Given the description of an element on the screen output the (x, y) to click on. 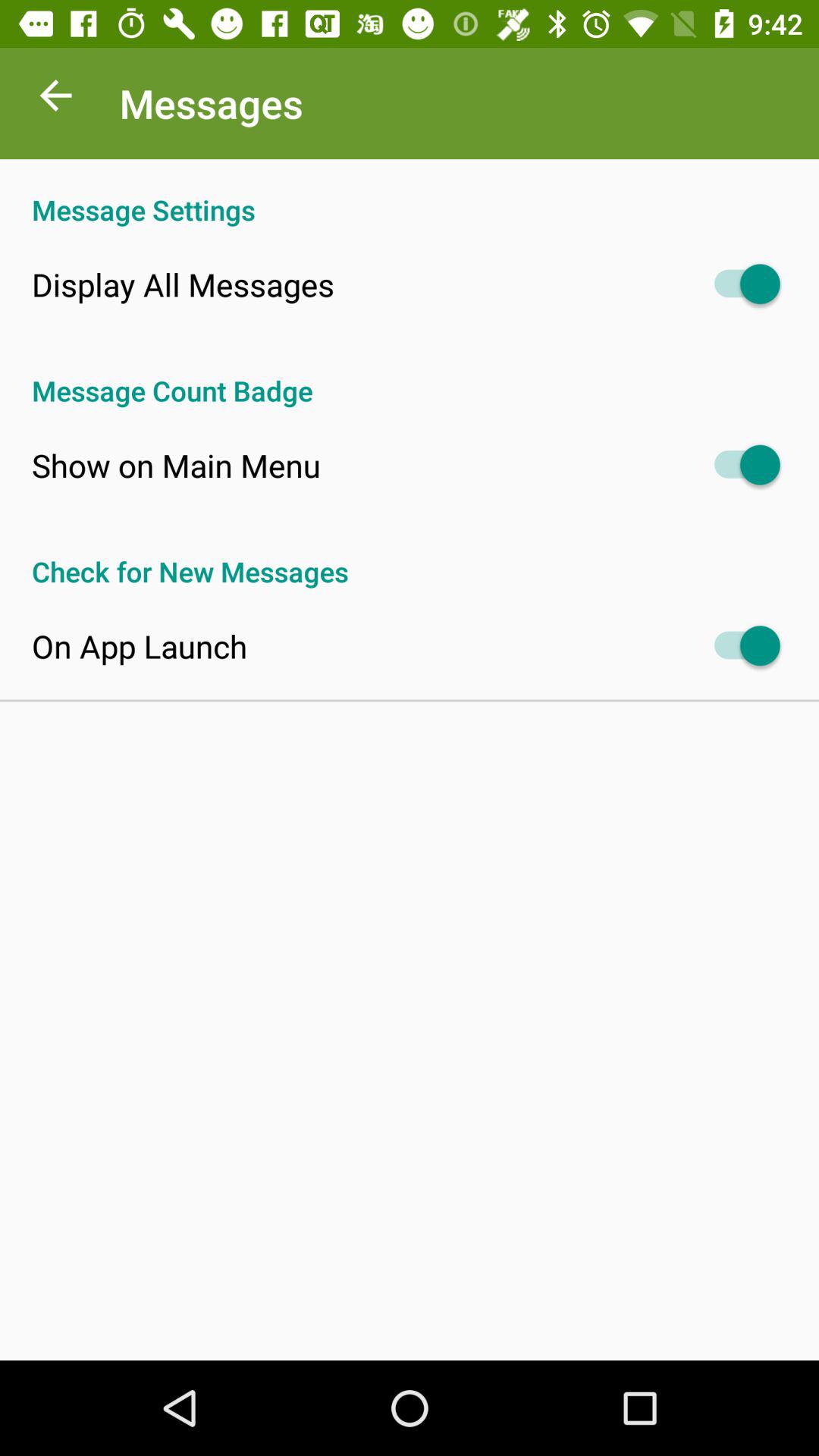
click item above the check for new icon (175, 464)
